Given the description of an element on the screen output the (x, y) to click on. 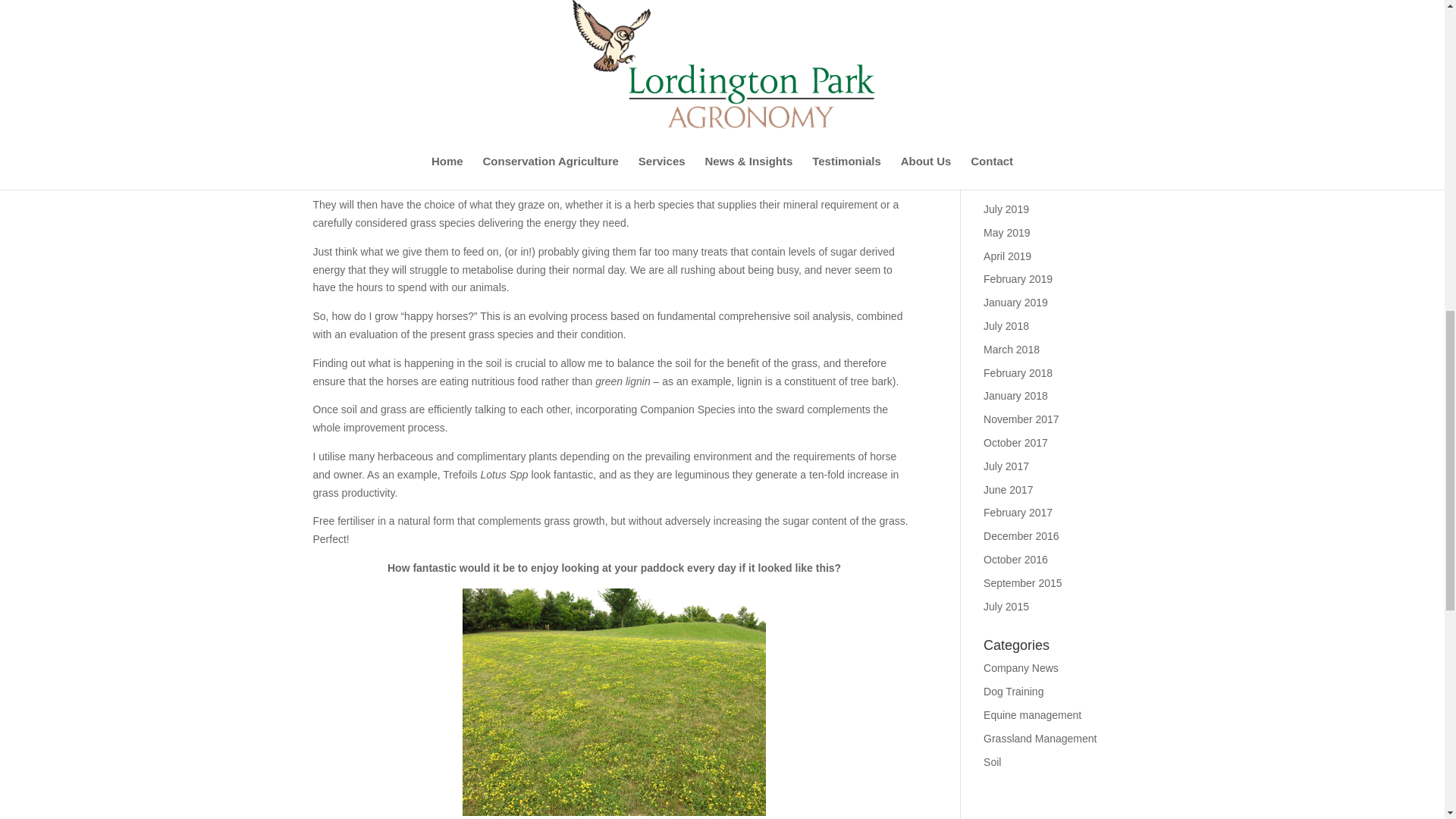
June 2020 (1008, 69)
May 2020 (1006, 92)
January 2021 (1016, 2)
September 2020 (1023, 46)
December 2020 (1021, 22)
